Given the description of an element on the screen output the (x, y) to click on. 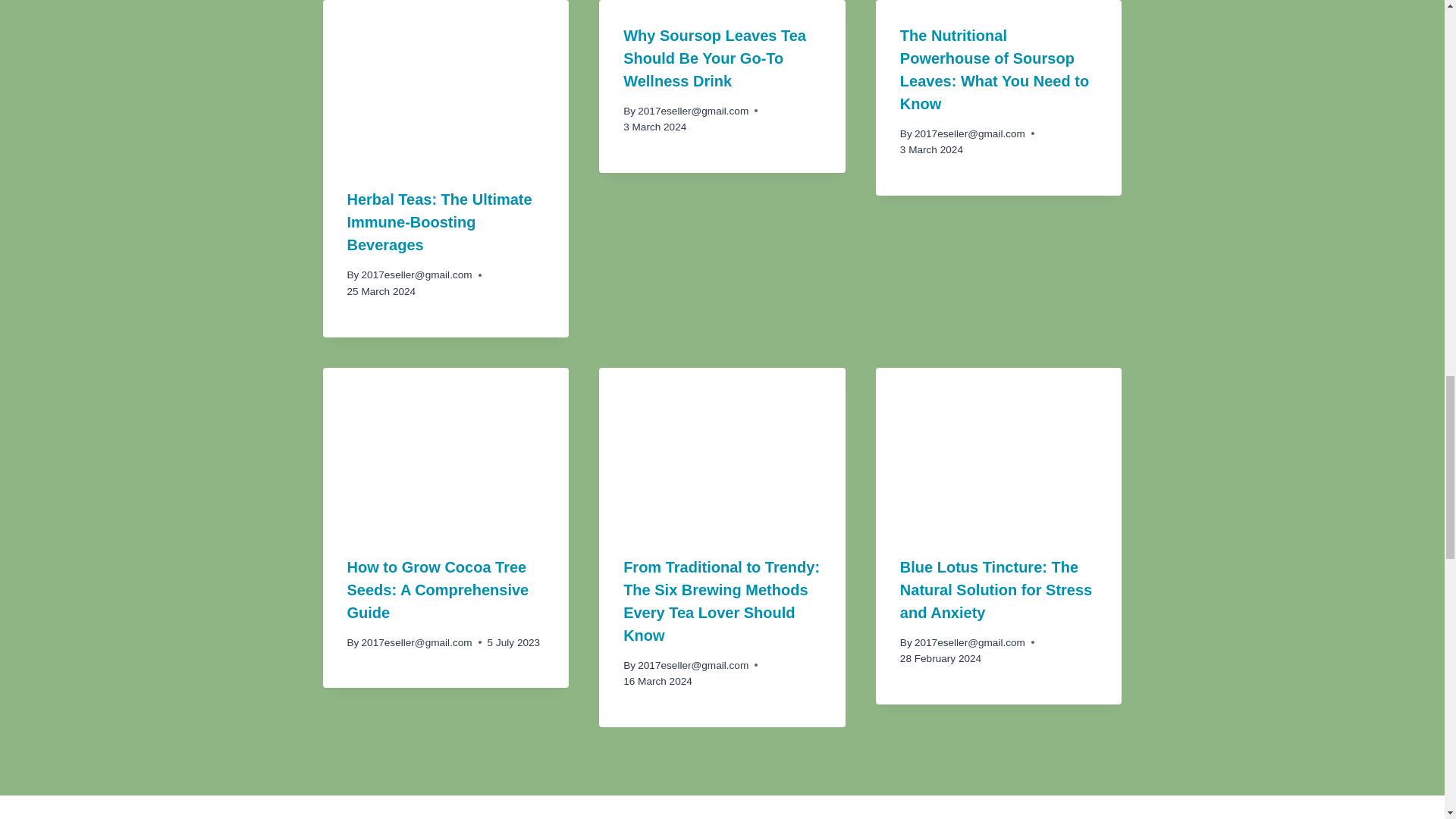
How to Grow Cocoa Tree Seeds: A Comprehensive Guide (438, 589)
Why Soursop Leaves Tea Should Be Your Go-To Wellness Drink (714, 58)
Herbal Teas: The Ultimate Immune-Boosting Beverages (439, 221)
